Given the description of an element on the screen output the (x, y) to click on. 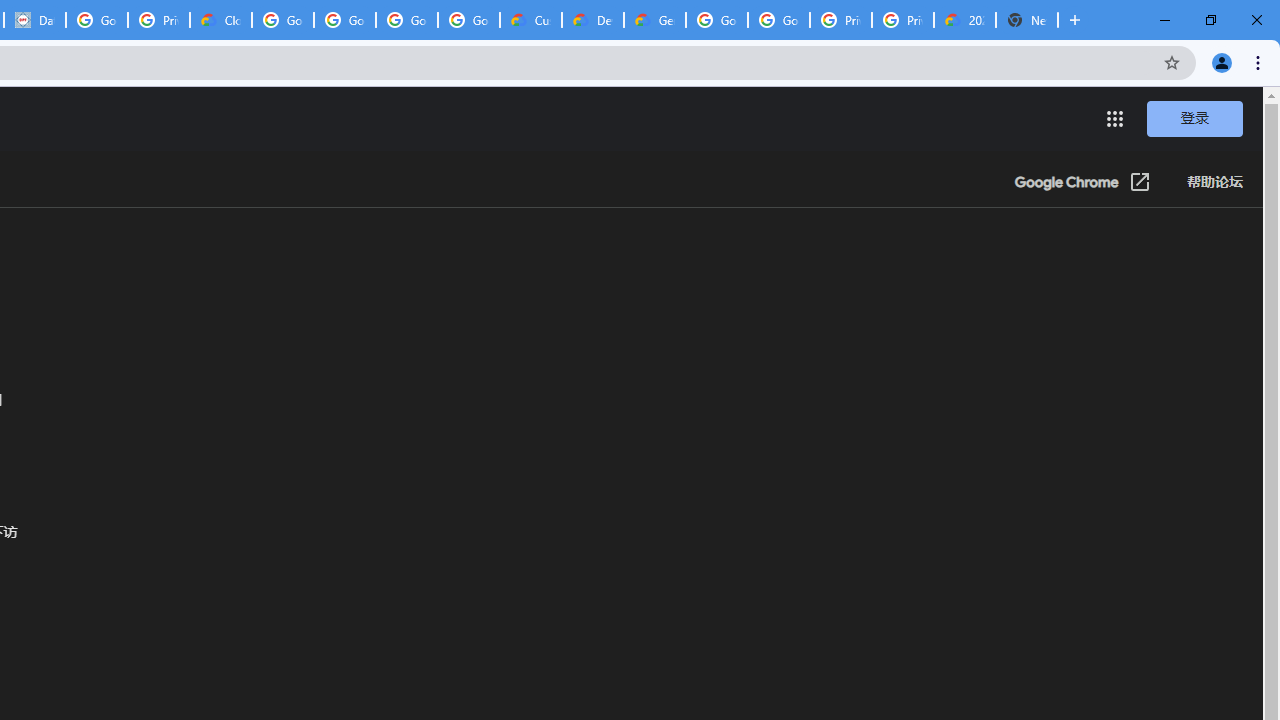
New Tab (1026, 20)
Google Workspace - Specific Terms (468, 20)
Customer Care | Google Cloud (530, 20)
